Given the description of an element on the screen output the (x, y) to click on. 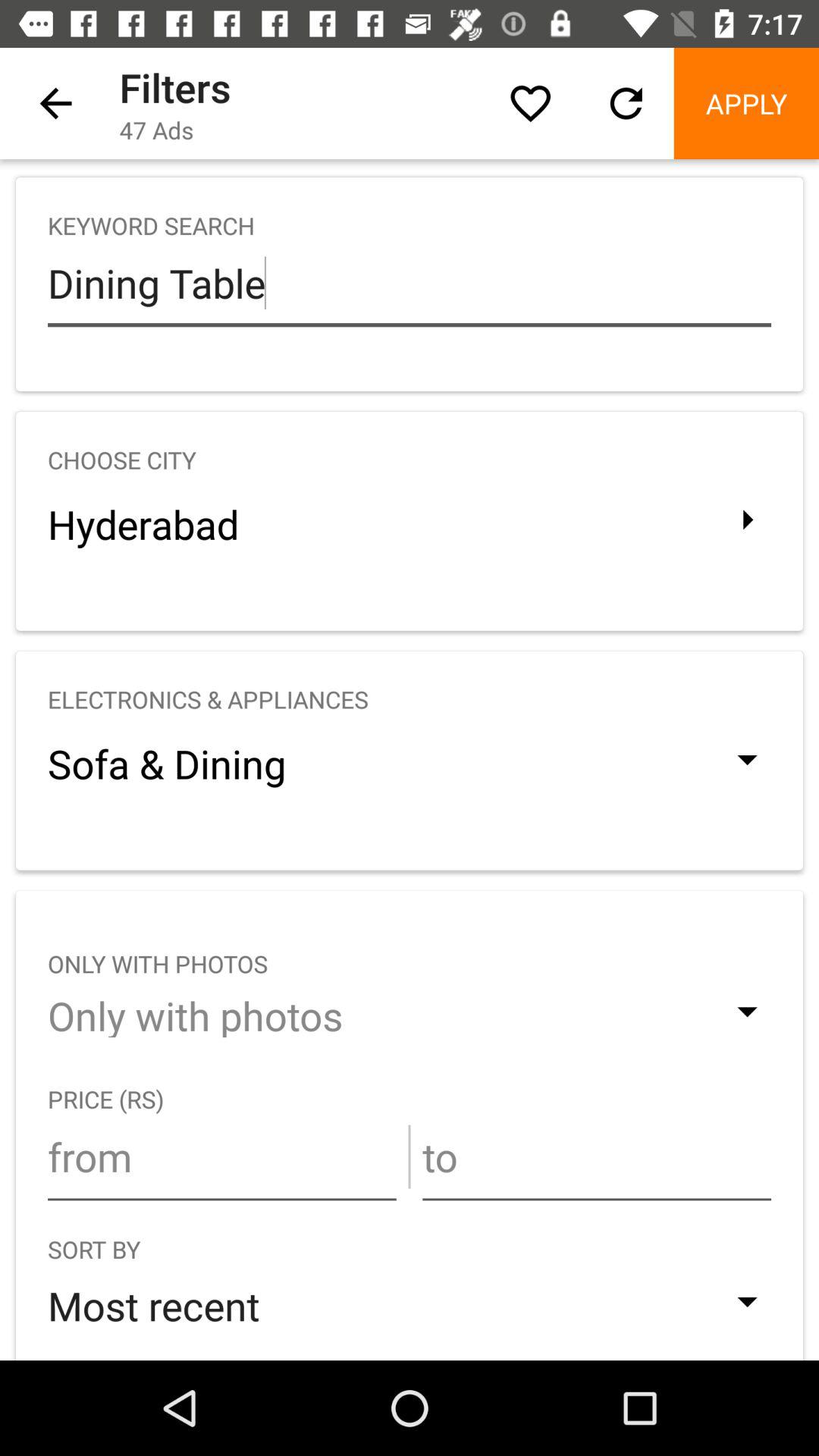
select the icon above the keyword search (625, 103)
